Given the description of an element on the screen output the (x, y) to click on. 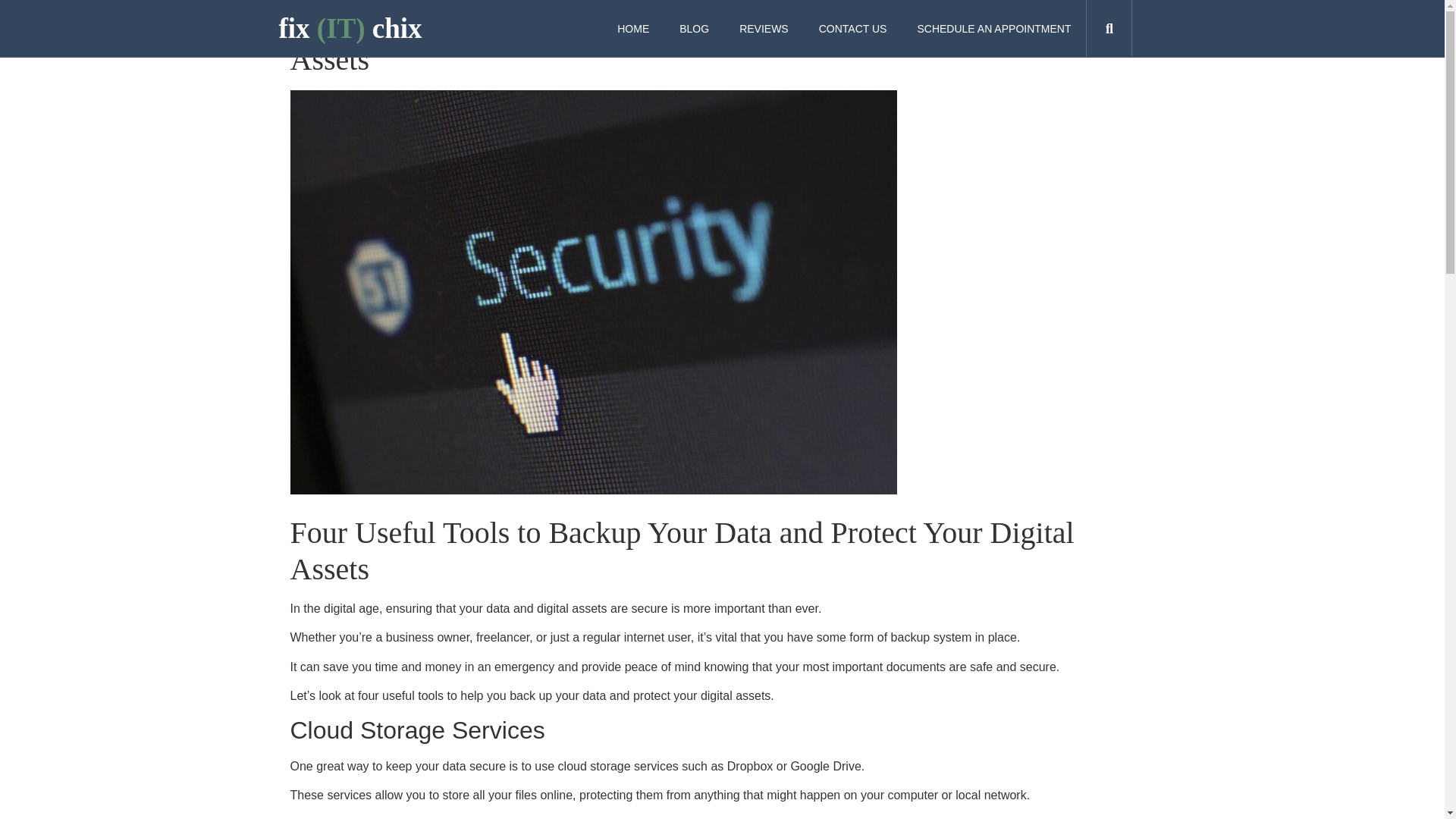
BLOG (693, 28)
REVIEWS (763, 28)
HOME (632, 28)
CONTACT US (852, 28)
SCHEDULE AN APPOINTMENT (993, 28)
